Given the description of an element on the screen output the (x, y) to click on. 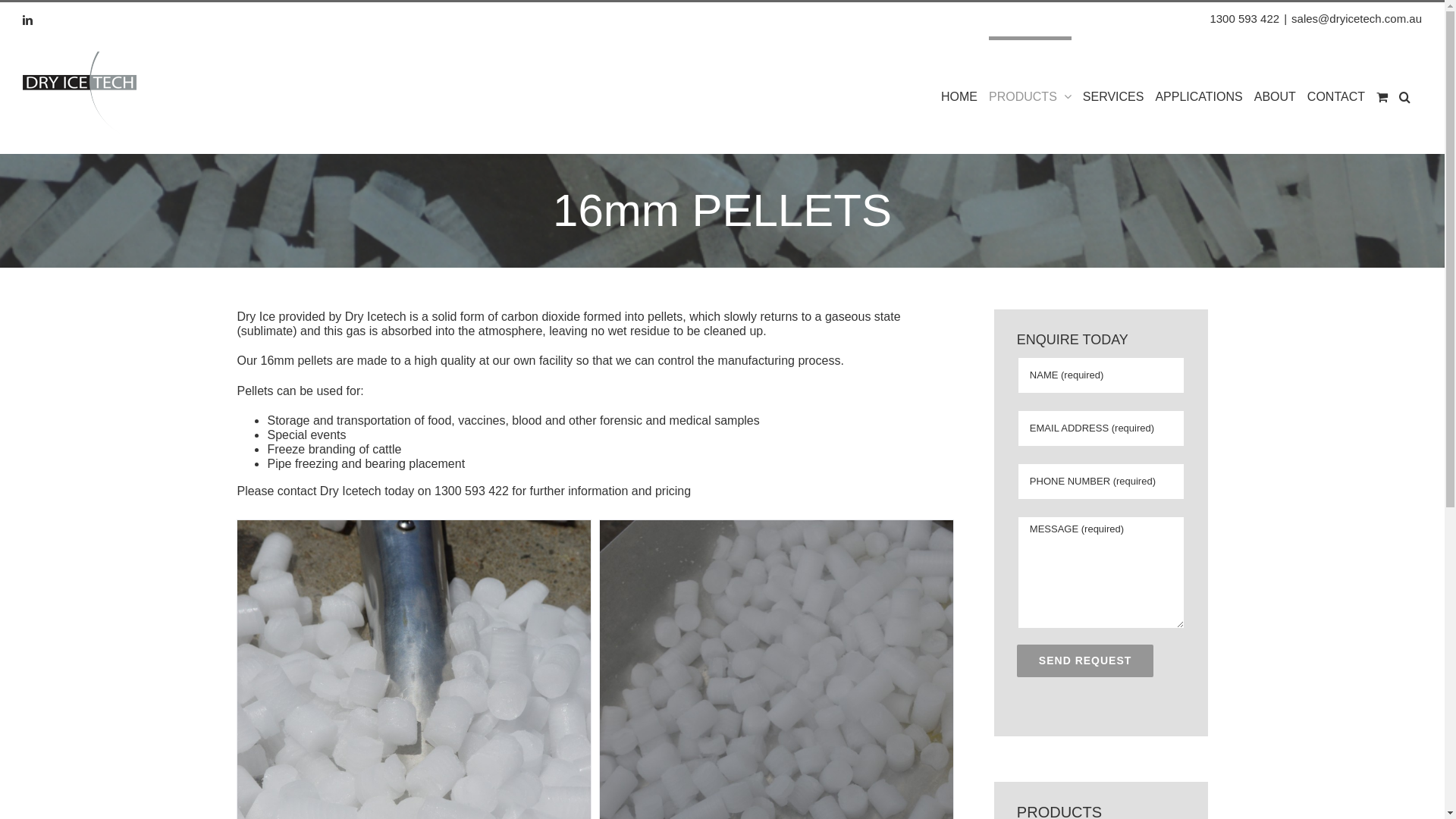
SEND REQUEST Element type: text (1084, 660)
ABOUT Element type: text (1274, 94)
LinkedIn Element type: text (27, 20)
PRODUCTS Element type: text (1029, 94)
APPLICATIONS Element type: text (1198, 94)
Search Element type: hover (1404, 94)
HOME Element type: text (959, 94)
SERVICES Element type: text (1113, 94)
sales@dryicetech.com.au Element type: text (1356, 18)
CONTACT Element type: text (1336, 94)
